Given the description of an element on the screen output the (x, y) to click on. 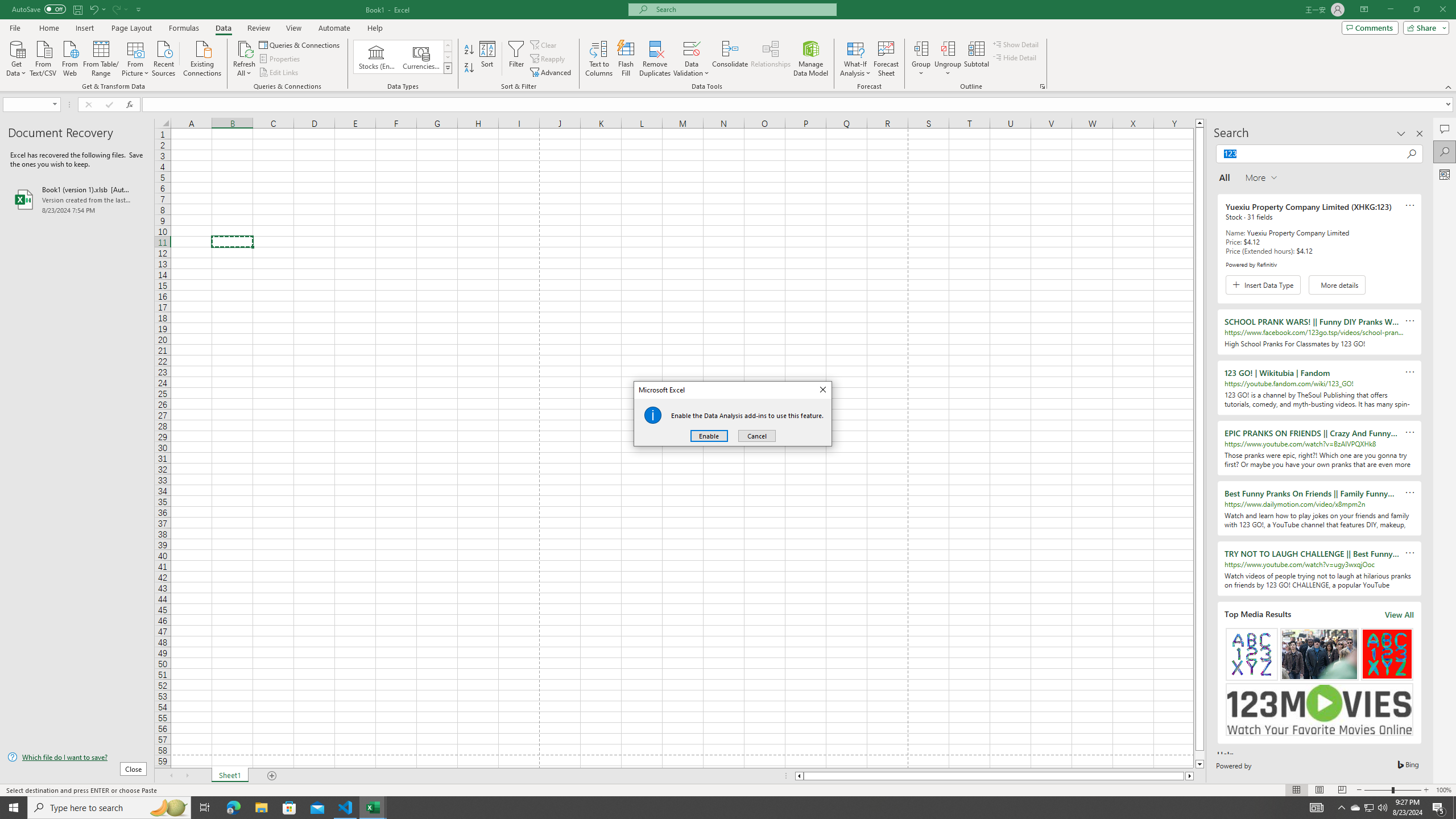
Class: Static (652, 415)
Search highlights icon opens search home window (167, 807)
Show desktop (1454, 807)
